Given the description of an element on the screen output the (x, y) to click on. 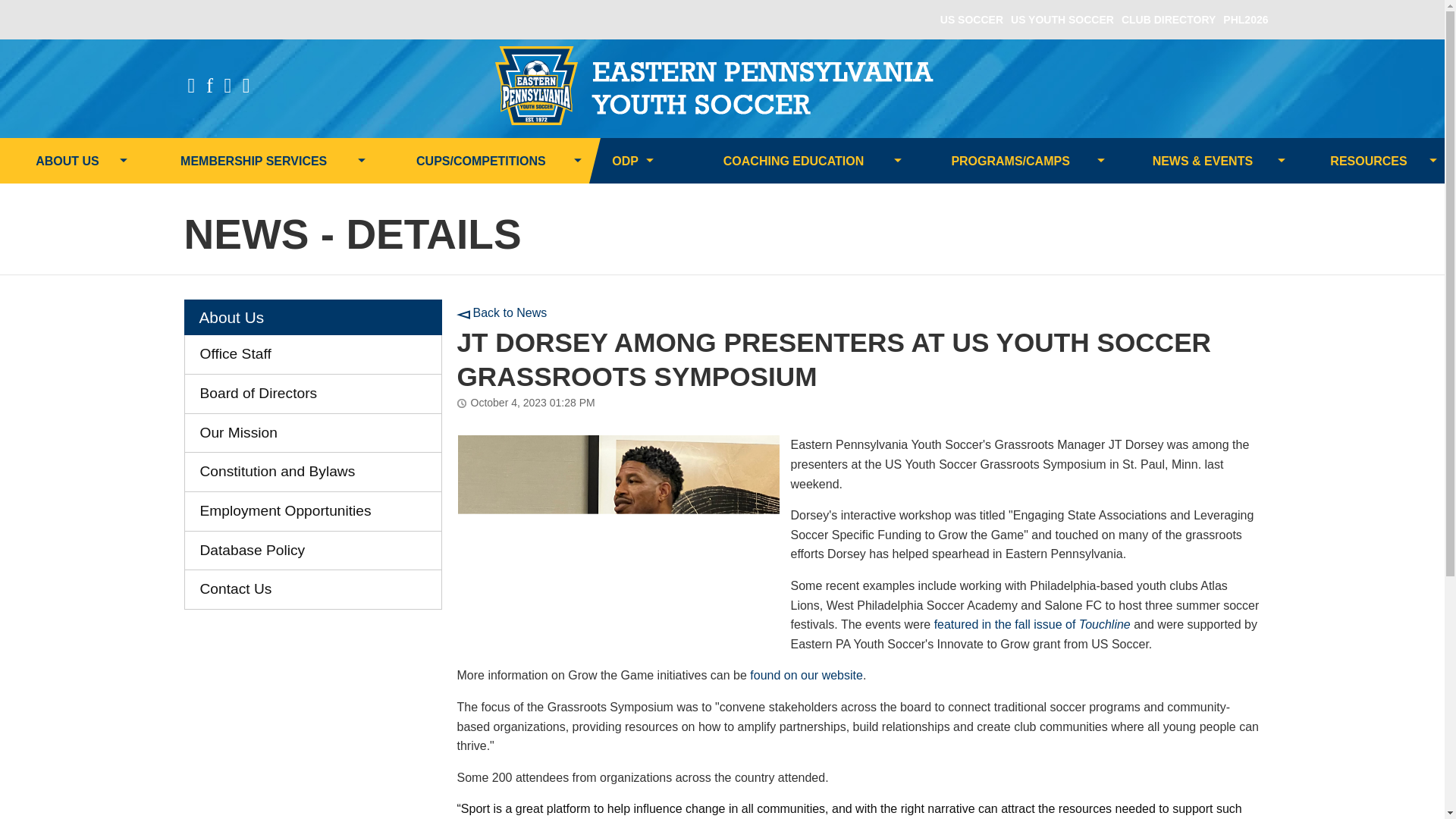
MEMBERSHIP SERVICES (253, 160)
ABOUT US (67, 160)
US SOCCER (971, 19)
CLUB DIRECTORY (1168, 19)
PHL2026 (1245, 19)
US YOUTH SOCCER (1061, 19)
